Given the description of an element on the screen output the (x, y) to click on. 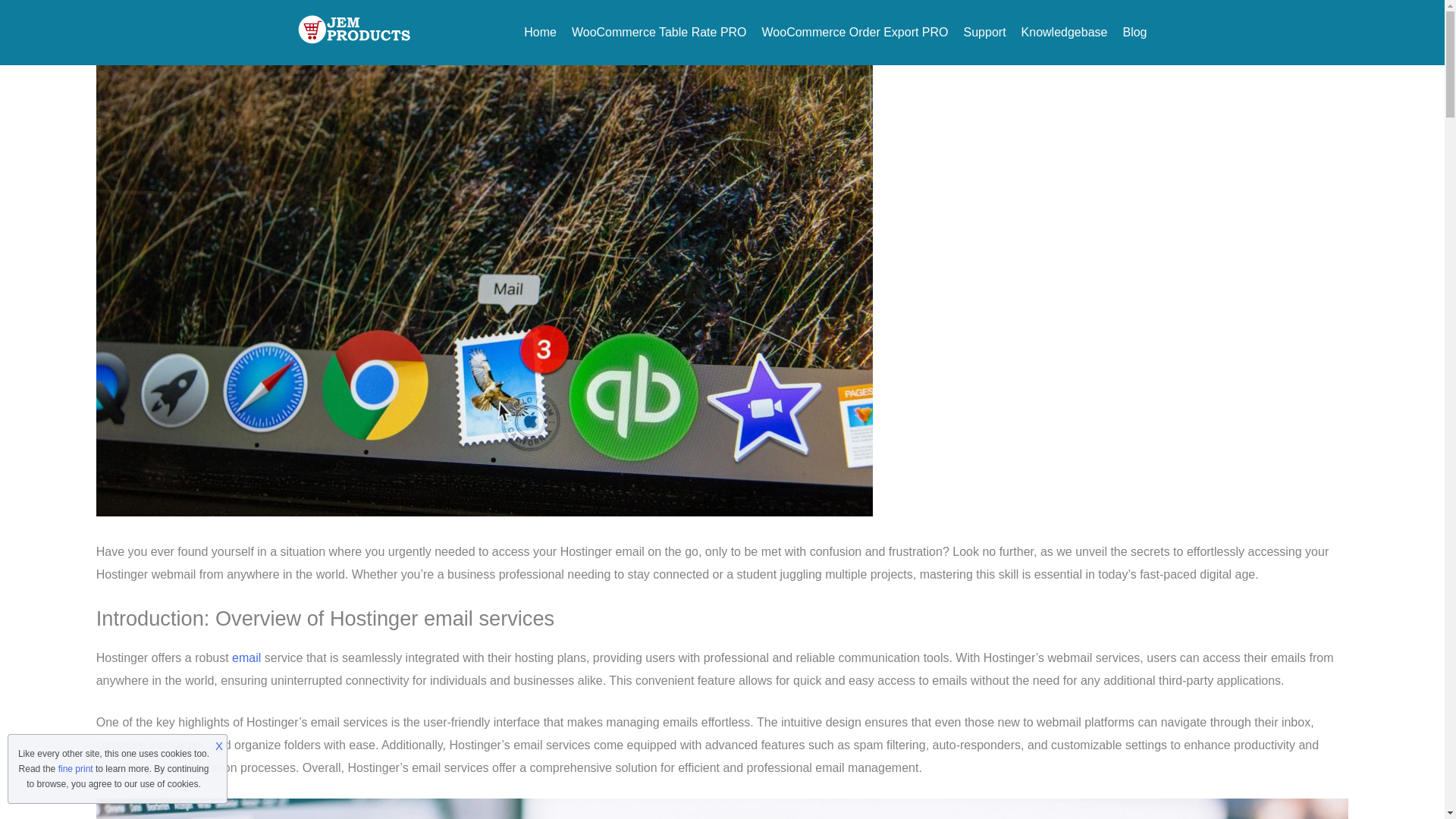
email (245, 657)
Knowledgebase (1065, 32)
Support (984, 32)
WooCommerce Table Rate PRO (659, 32)
WooCommerce Order Export PRO (855, 32)
Home (540, 32)
